Given the description of an element on the screen output the (x, y) to click on. 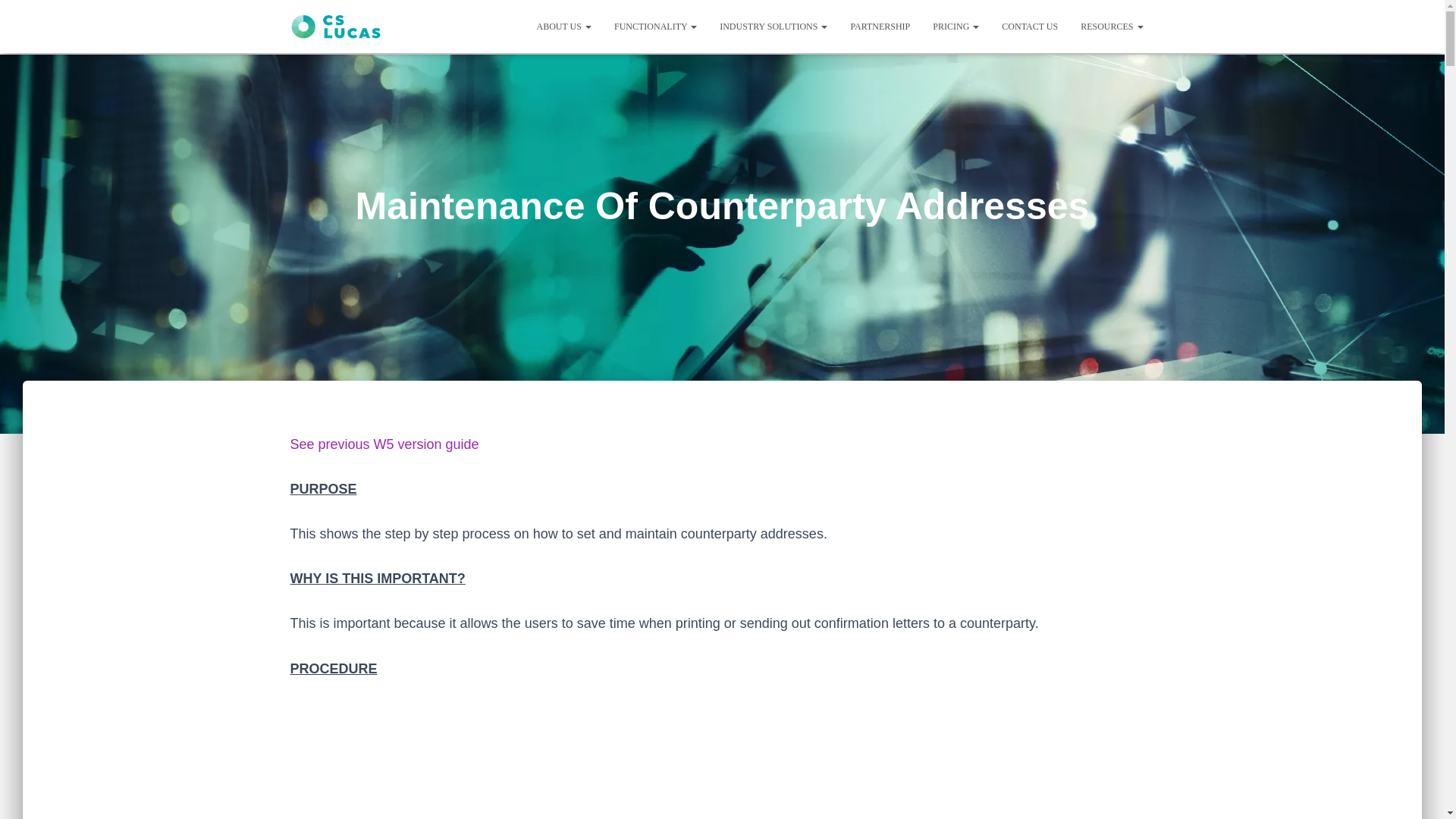
PRICING (955, 26)
RESOURCES (1111, 26)
Industry Solutions (772, 26)
CS Lucas (336, 26)
CONTACT US (1029, 26)
See previous W5 version guide (384, 444)
PARTNERSHIP (879, 26)
Functionality (654, 26)
FUNCTIONALITY (654, 26)
About Us (563, 26)
INDUSTRY SOLUTIONS (772, 26)
ABOUT US (563, 26)
